Given the description of an element on the screen output the (x, y) to click on. 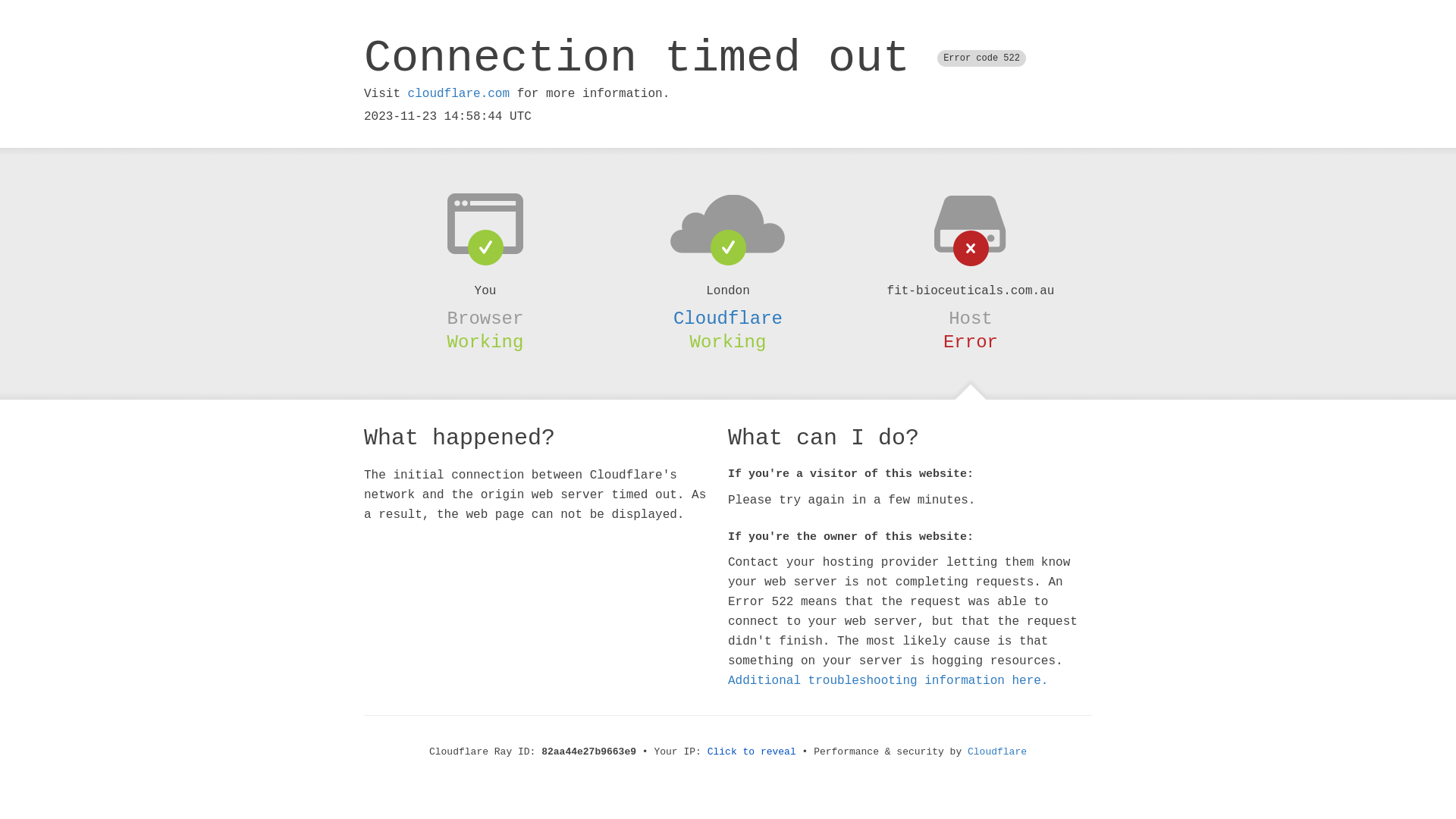
Additional troubleshooting information here. Element type: text (888, 680)
Cloudflare Element type: text (996, 751)
Cloudflare Element type: text (727, 318)
cloudflare.com Element type: text (458, 93)
Click to reveal Element type: text (751, 751)
